Given the description of an element on the screen output the (x, y) to click on. 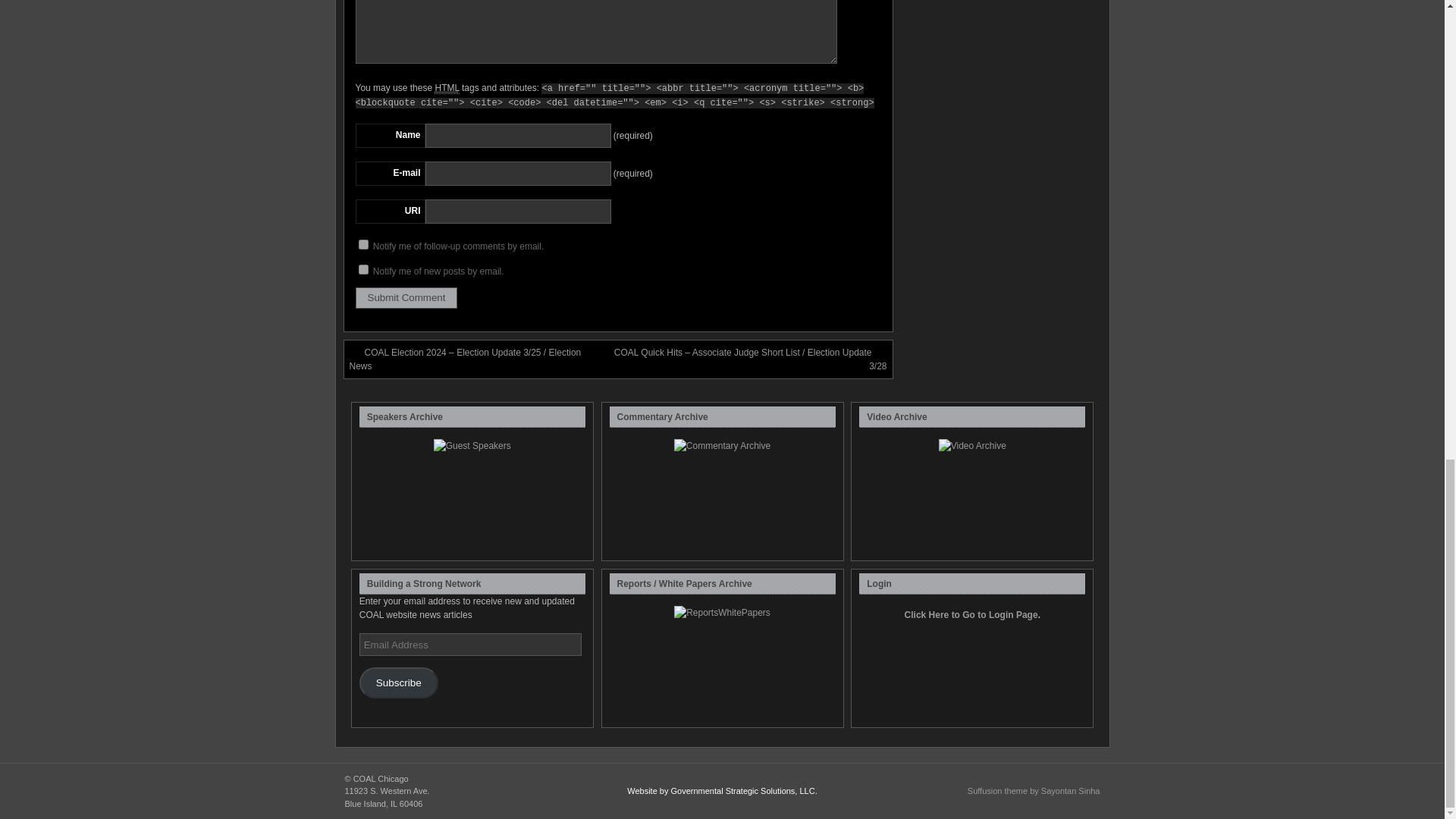
Click Here to Go to Login Page (971, 621)
subscribe (363, 244)
HyperText Markup Language (445, 88)
Submit Comment (406, 297)
Website by Governmental Strategic Solutions, LLC. (721, 790)
Suffusion theme by Sayontan Sinha (1034, 790)
Subscribe (398, 682)
subscribe (363, 269)
Submit Comment (406, 297)
